Given the description of an element on the screen output the (x, y) to click on. 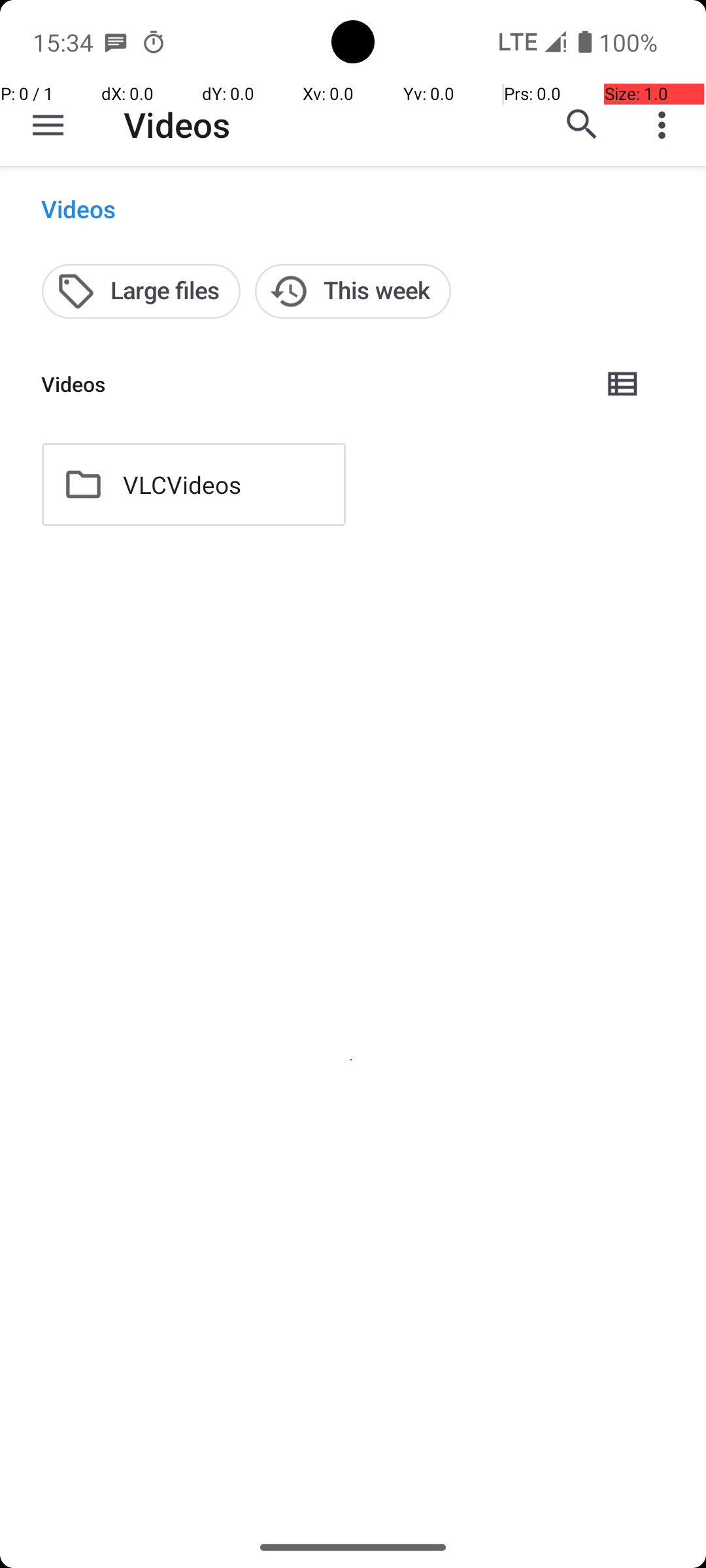
VLCVideos Element type: android.widget.TextView (181, 484)
